Given the description of an element on the screen output the (x, y) to click on. 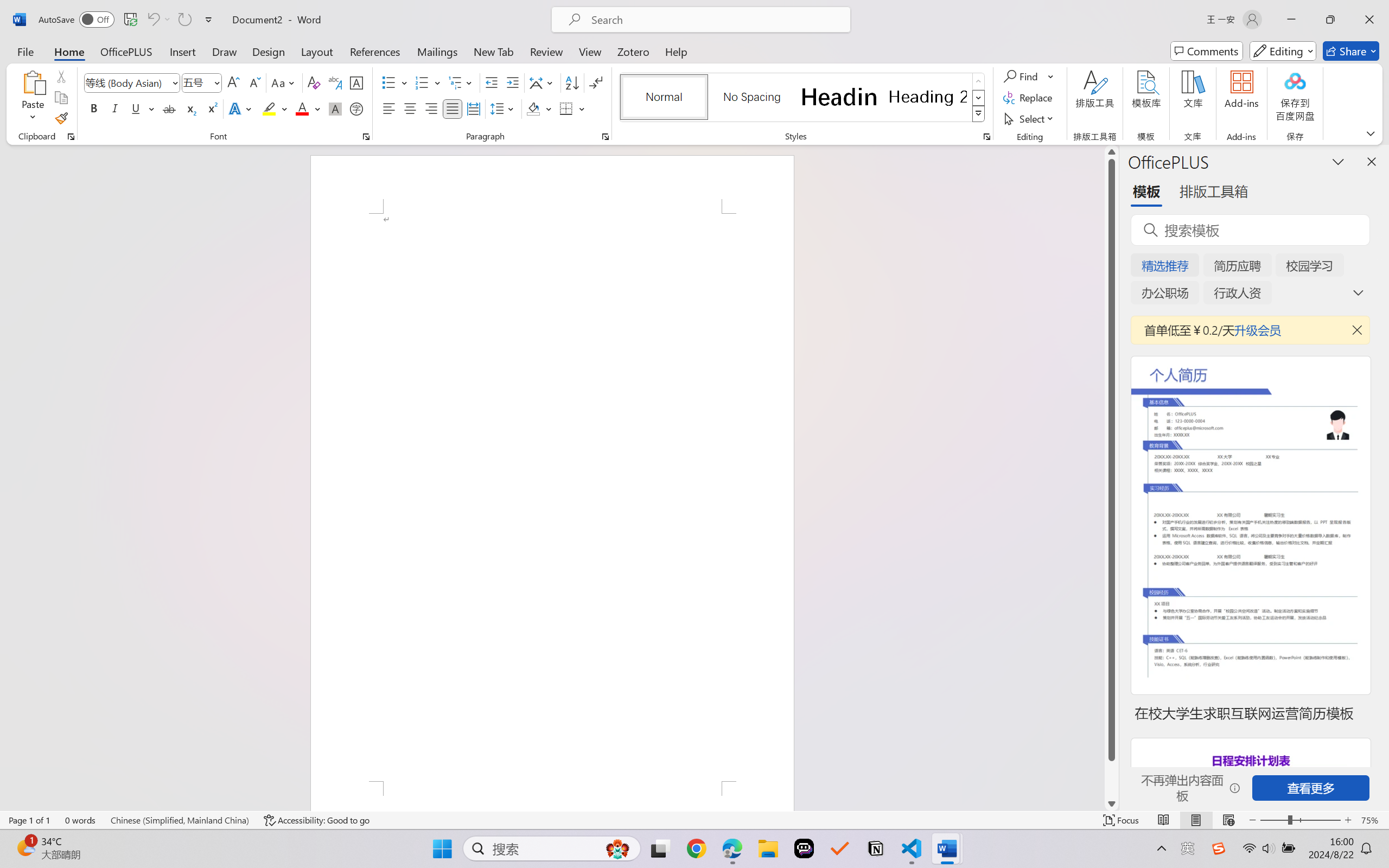
Zotero (632, 51)
Increase Indent (512, 82)
Review (546, 51)
Help (675, 51)
Character Shading (334, 108)
Find (1022, 75)
Font Color (308, 108)
Format Painter (60, 118)
AutomationID: BadgeAnchorLargeTicker (24, 847)
Numbering (421, 82)
Page Number Page 1 of 1 (29, 819)
